Given the description of an element on the screen output the (x, y) to click on. 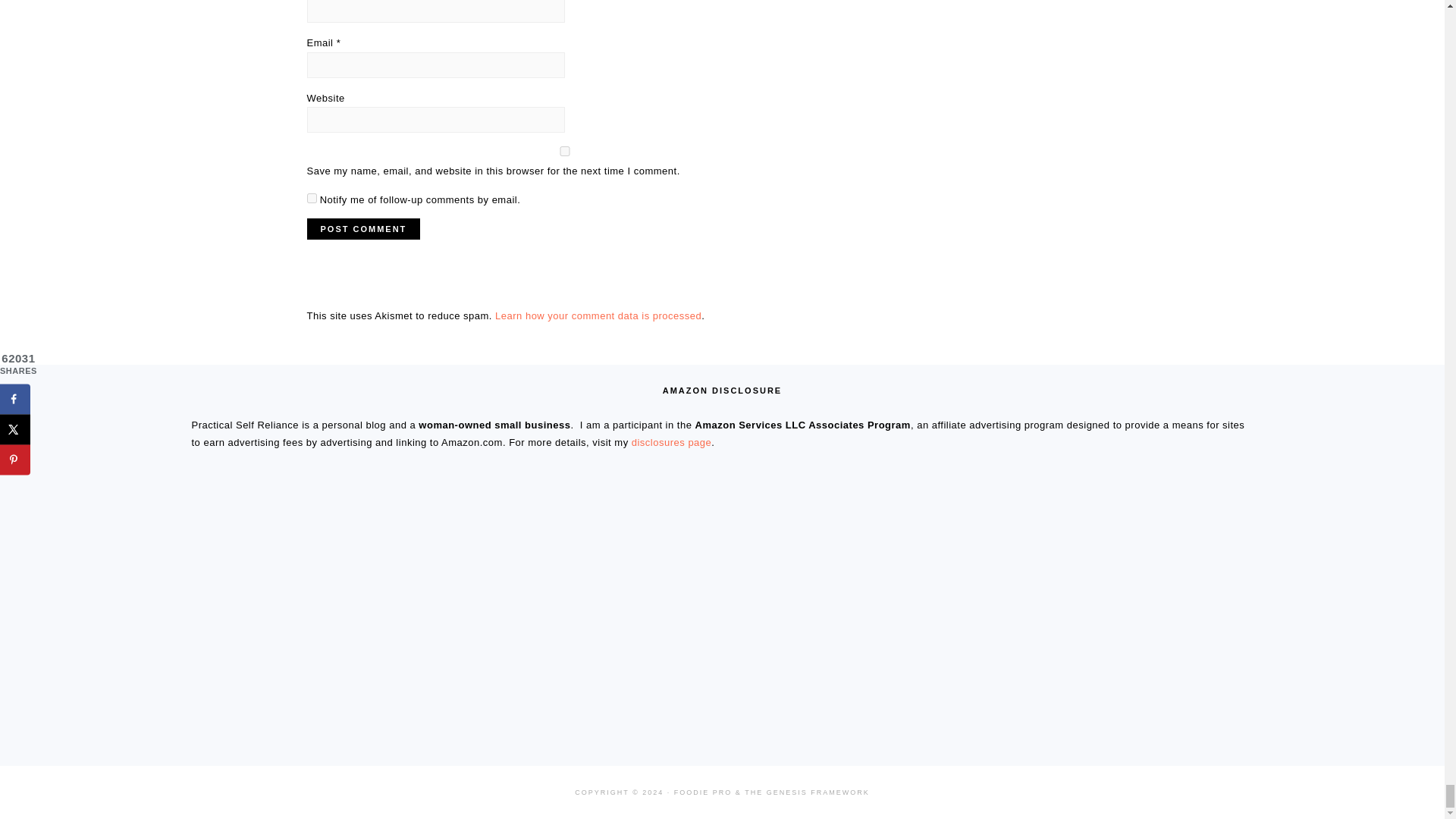
Post Comment (362, 228)
Prepper Website (450, 680)
yes (563, 151)
subscribe (310, 198)
